Given the description of an element on the screen output the (x, y) to click on. 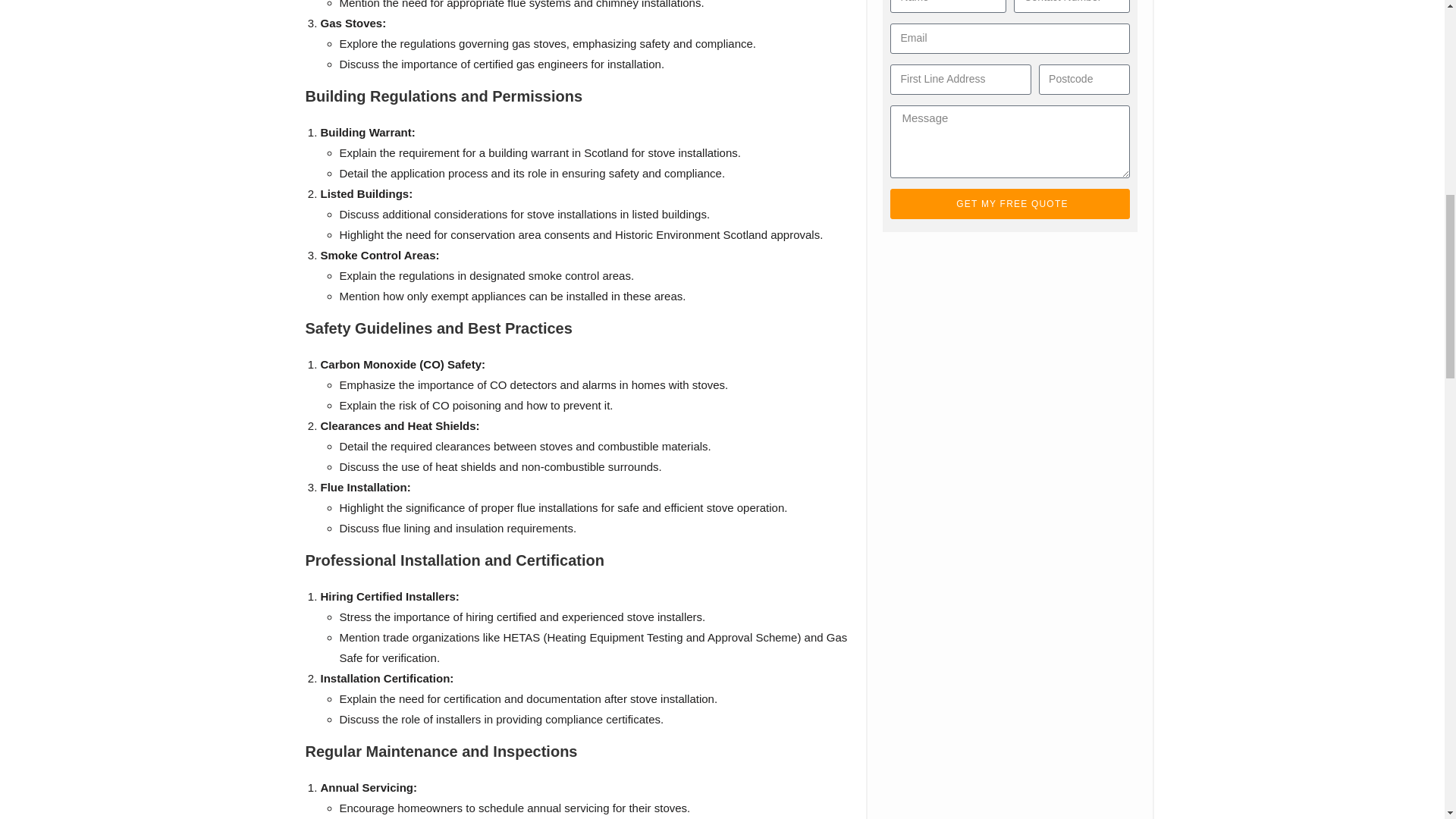
GET MY FREE QUOTE (1009, 203)
